Given the description of an element on the screen output the (x, y) to click on. 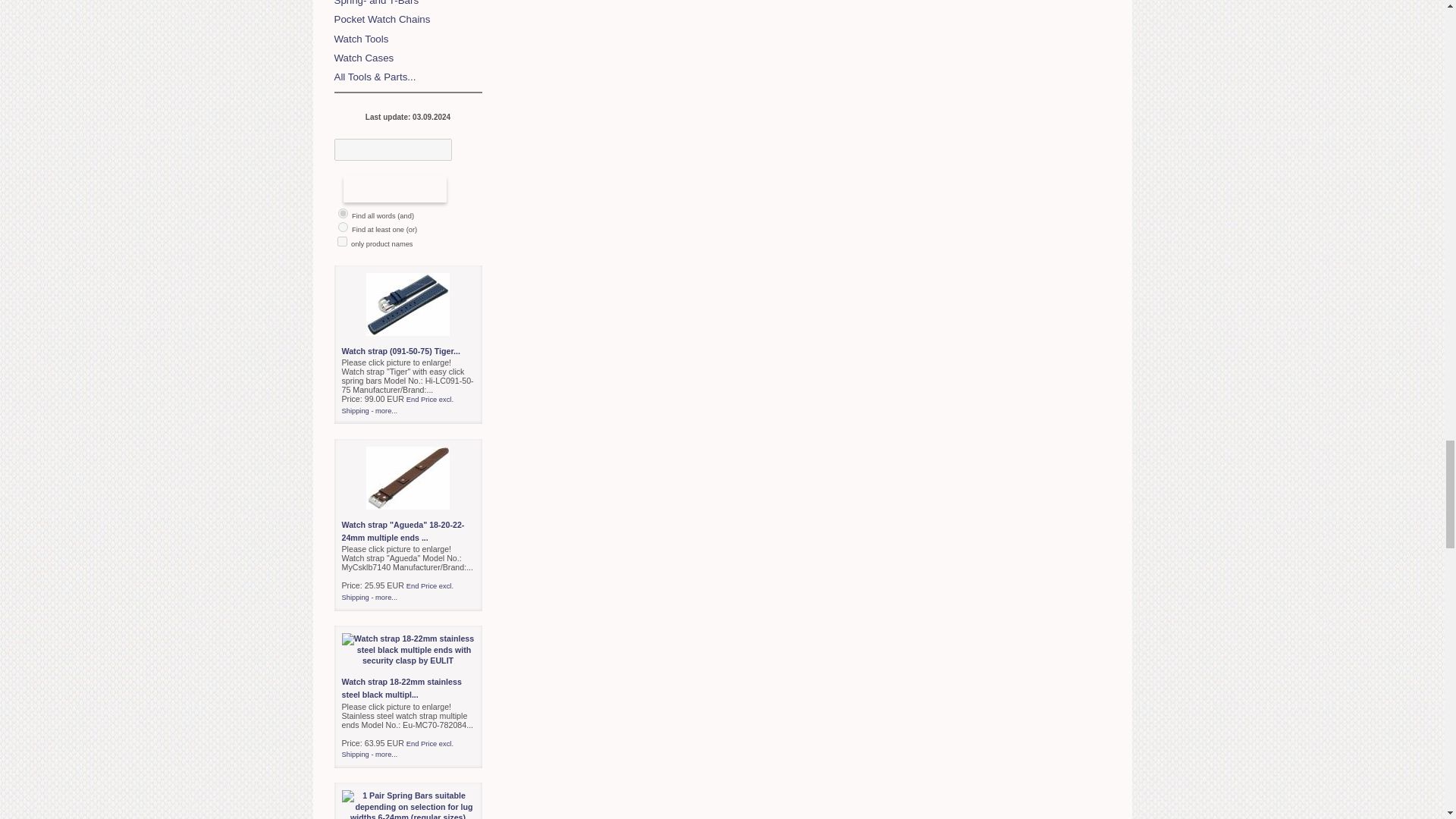
1 (341, 241)
0 (342, 226)
1 (342, 213)
